Given the description of an element on the screen output the (x, y) to click on. 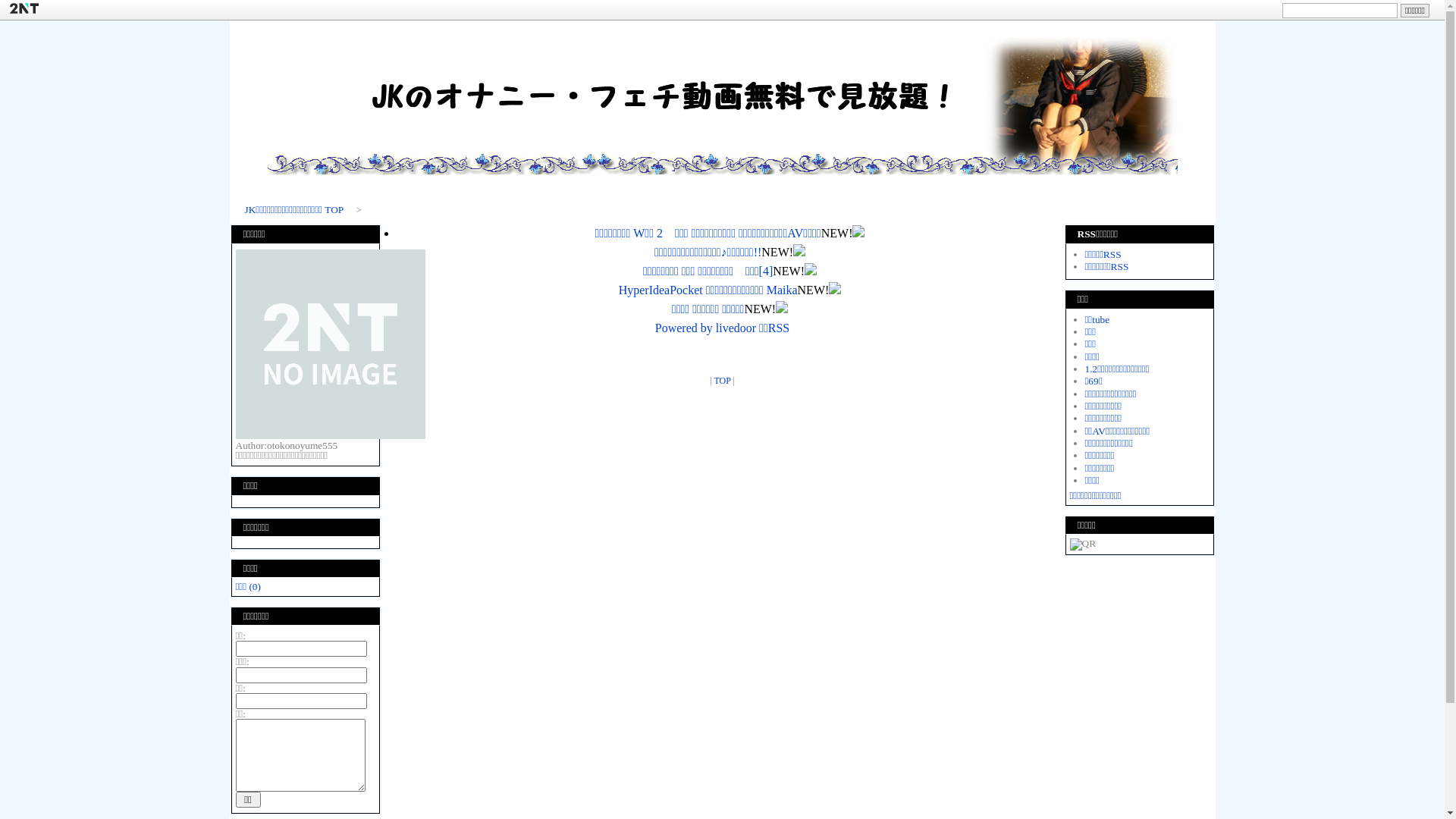
TOP Element type: text (721, 380)
